Given the description of an element on the screen output the (x, y) to click on. 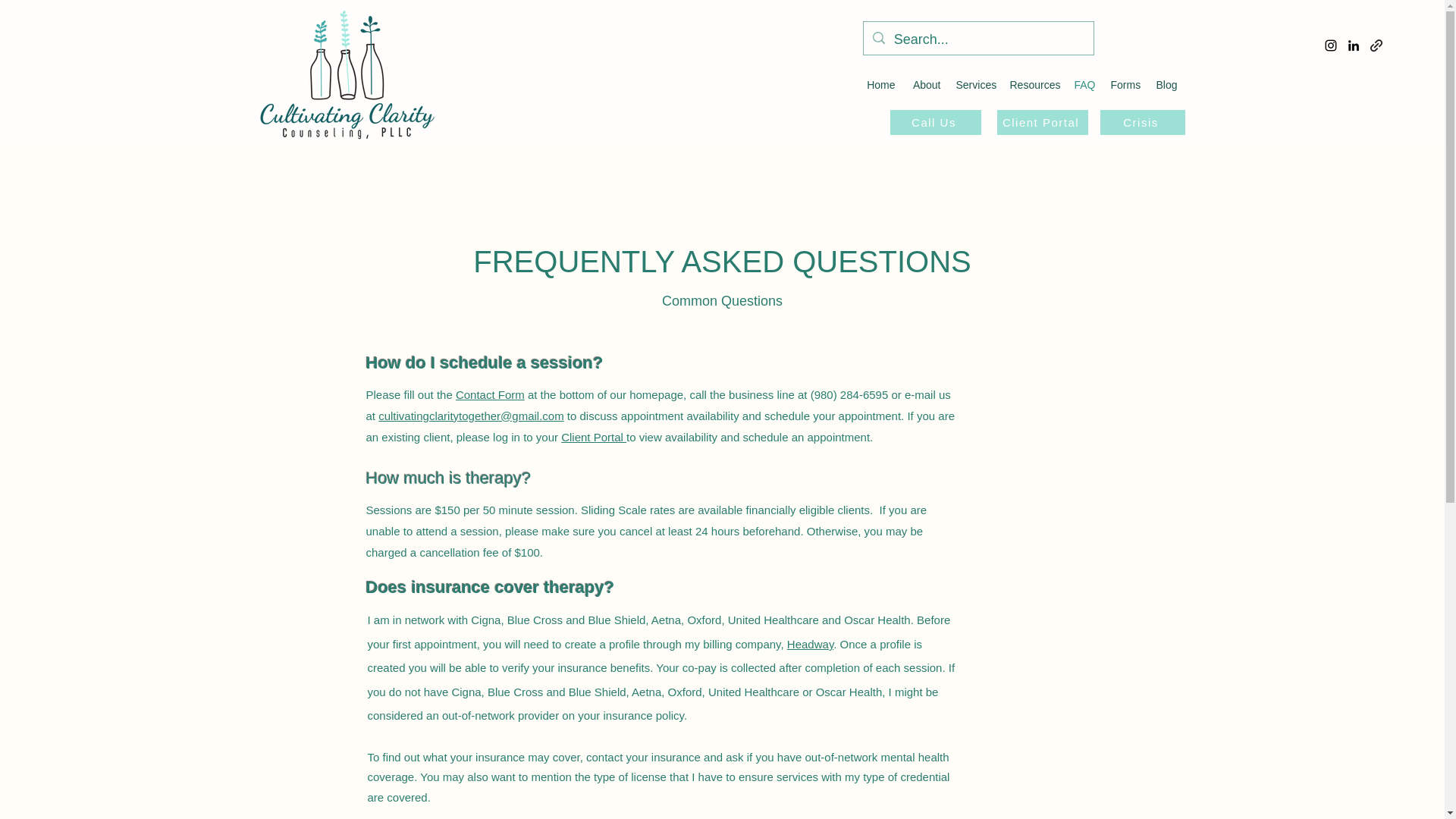
FAQ (1084, 84)
Client Portal (1041, 122)
Contact Form (489, 394)
Call Us (935, 122)
Headway (809, 644)
Home (880, 84)
Blog (1166, 84)
About (924, 84)
Client Portal (593, 436)
Crisis (1142, 122)
